Given the description of an element on the screen output the (x, y) to click on. 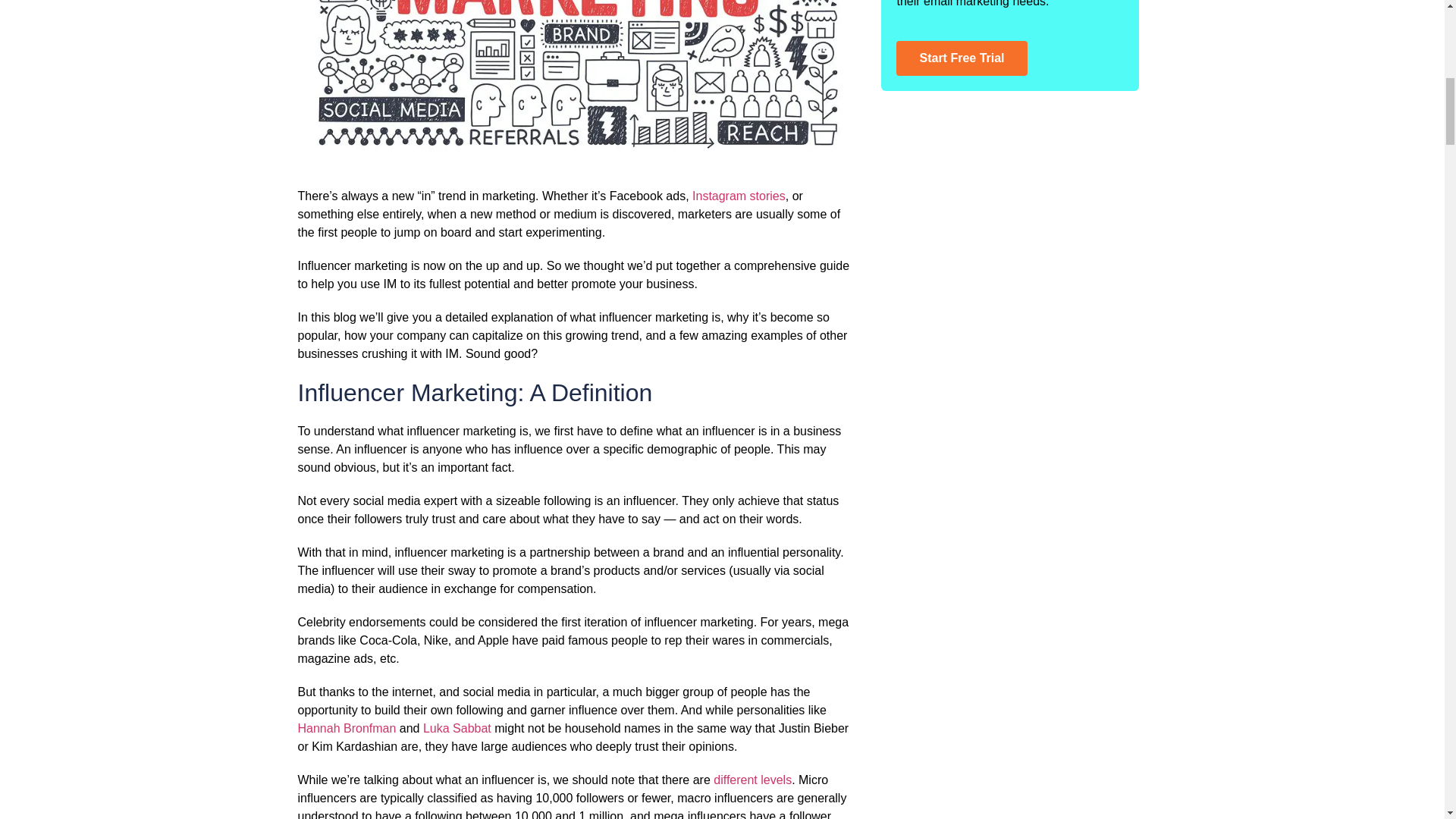
Luka Sabbat (457, 727)
different levels (752, 779)
Instagram stories (739, 195)
Hannah Bronfman (346, 727)
